Given the description of an element on the screen output the (x, y) to click on. 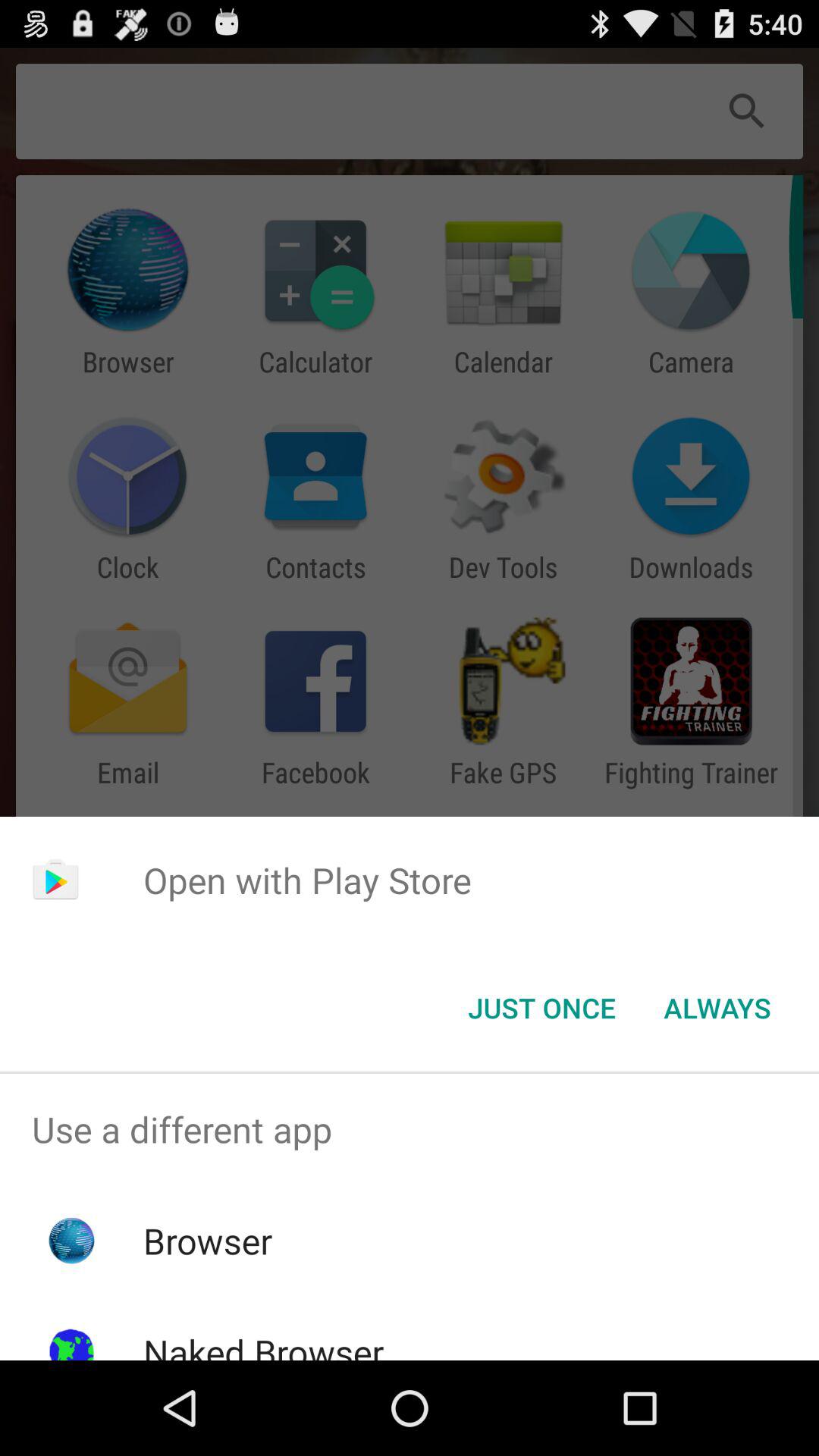
choose app below browser (263, 1344)
